Given the description of an element on the screen output the (x, y) to click on. 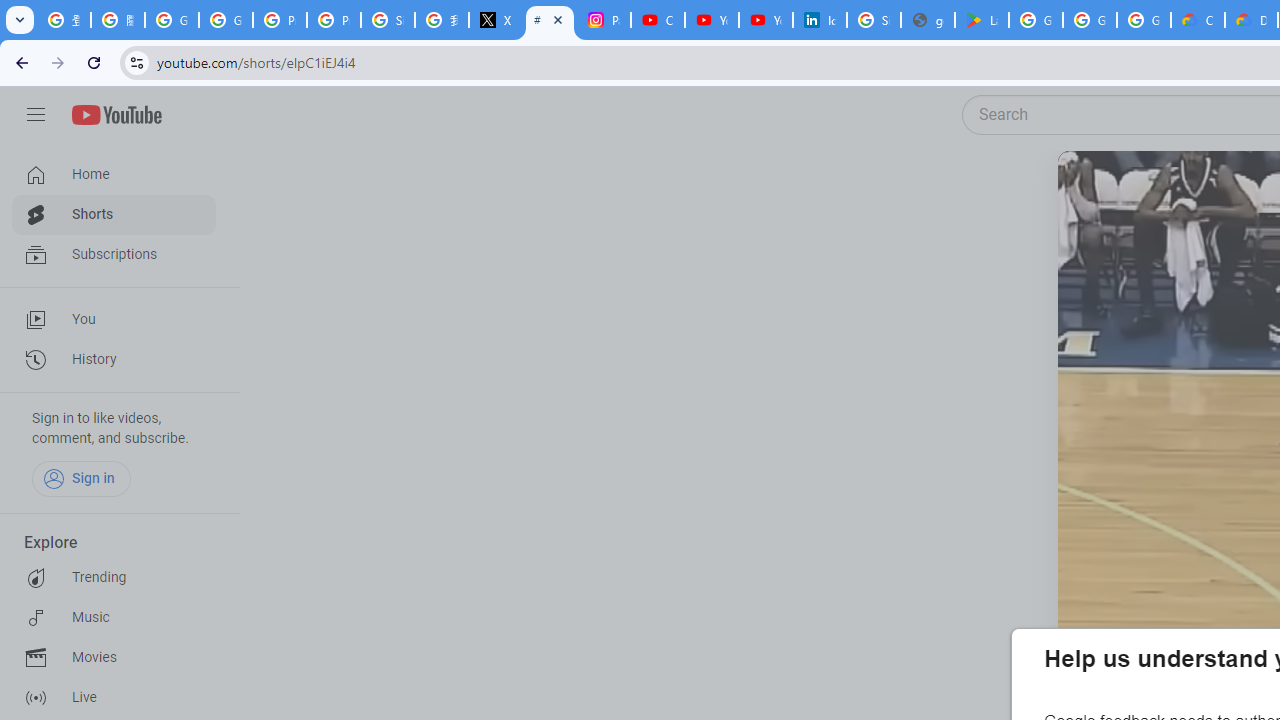
YouTube Home (116, 115)
X (495, 20)
Mute (1154, 191)
Privacy Help Center - Policies Help (333, 20)
YouTube Culture & Trends - YouTube Top 10, 2021 (765, 20)
Movies (113, 657)
Privacy Help Center - Policies Help (280, 20)
Sign in - Google Accounts (387, 20)
Trending (113, 578)
Shorts (113, 214)
Google Workspace - Specific Terms (1144, 20)
Guide (35, 115)
